Given the description of an element on the screen output the (x, y) to click on. 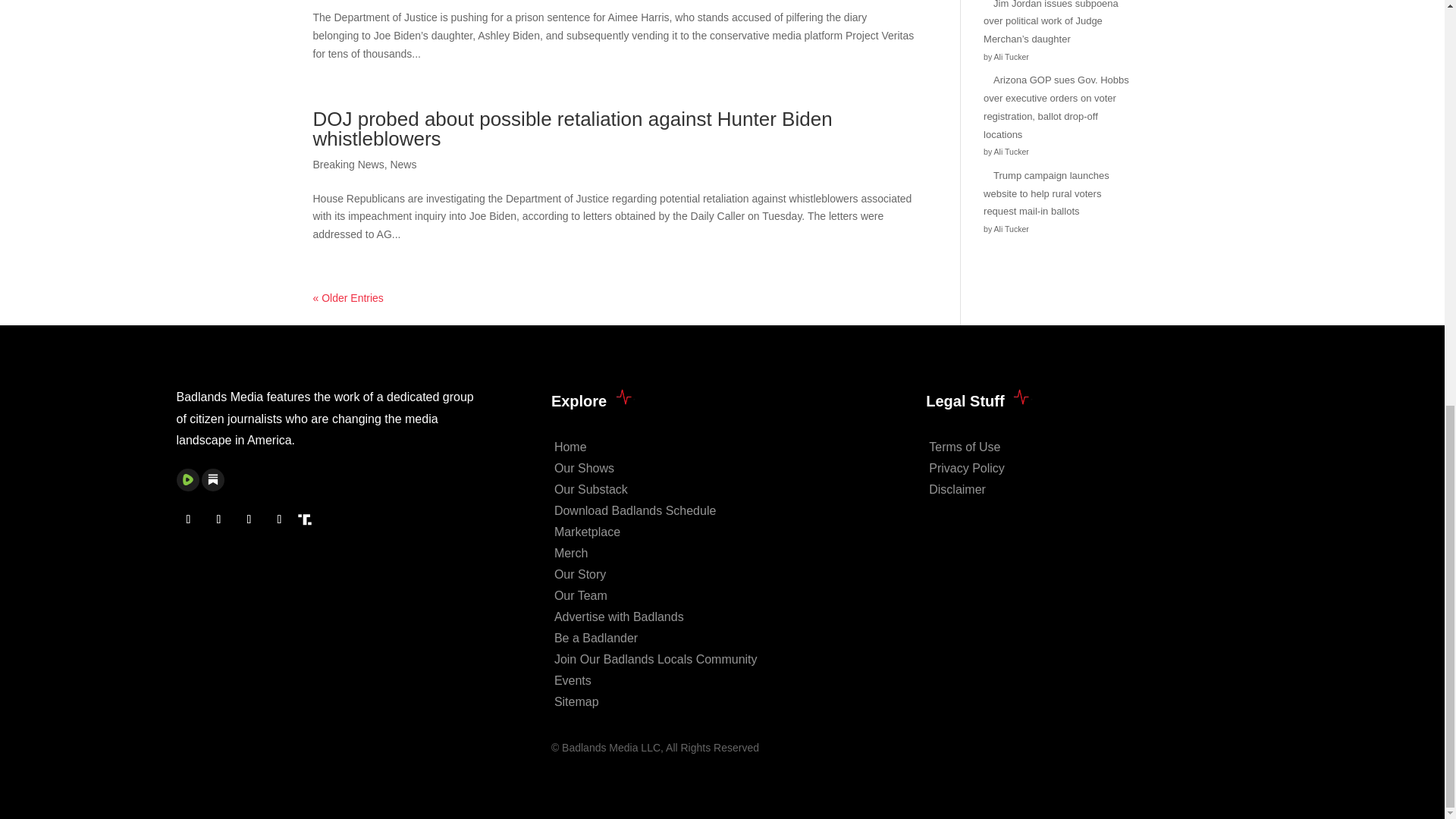
Breaking News (348, 164)
Follow on Instagram (247, 518)
News (403, 164)
Follow on Facebook (188, 518)
Follow on X (218, 518)
Follow on Telegram (278, 518)
